Given the description of an element on the screen output the (x, y) to click on. 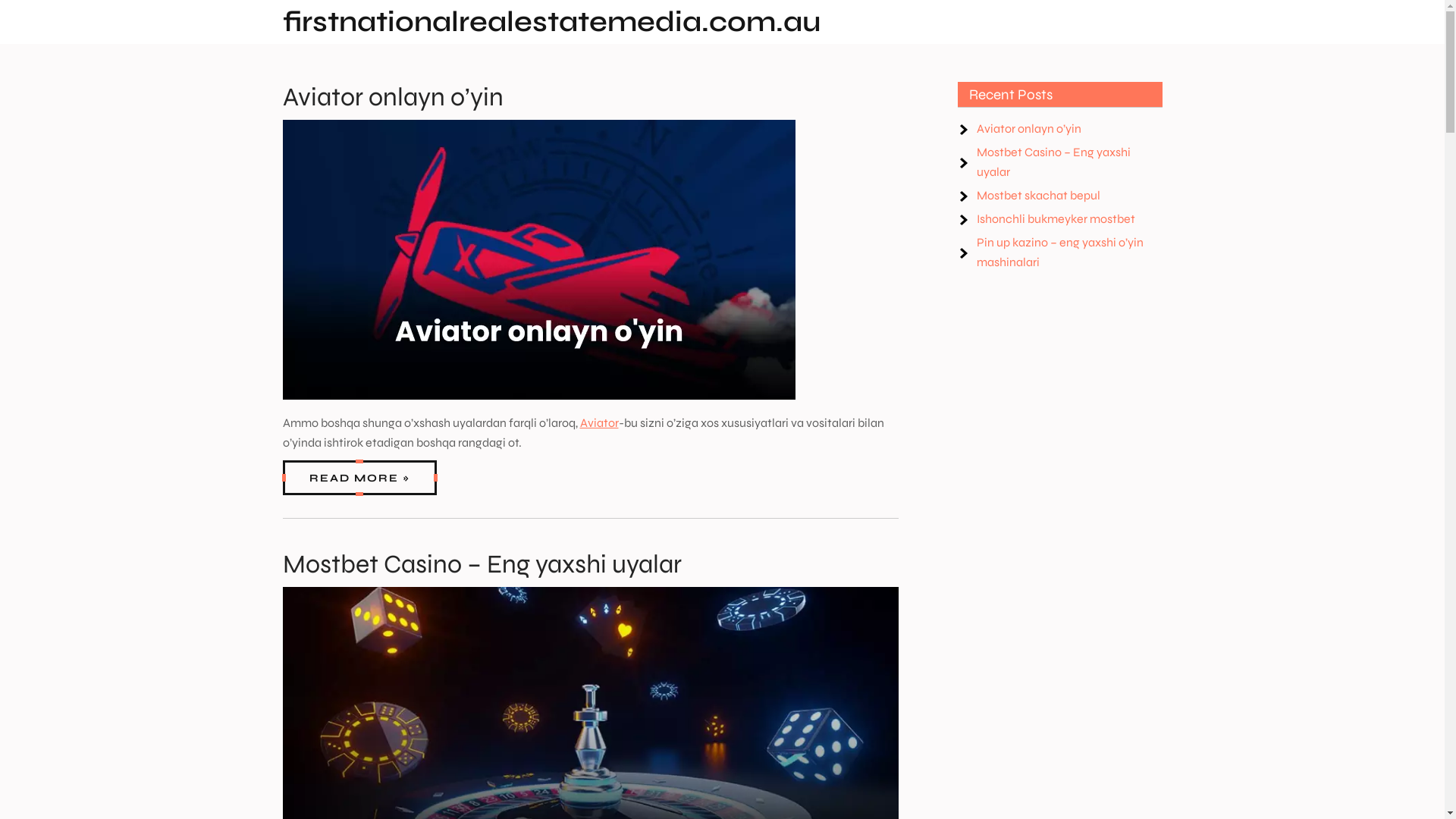
Ishonchli bukmeyker mostbet Element type: text (1055, 218)
firstnationalrealestatemedia.com.au Element type: text (550, 21)
Mostbet skachat bepul Element type: text (1038, 195)
Aviator Element type: text (598, 422)
